Given the description of an element on the screen output the (x, y) to click on. 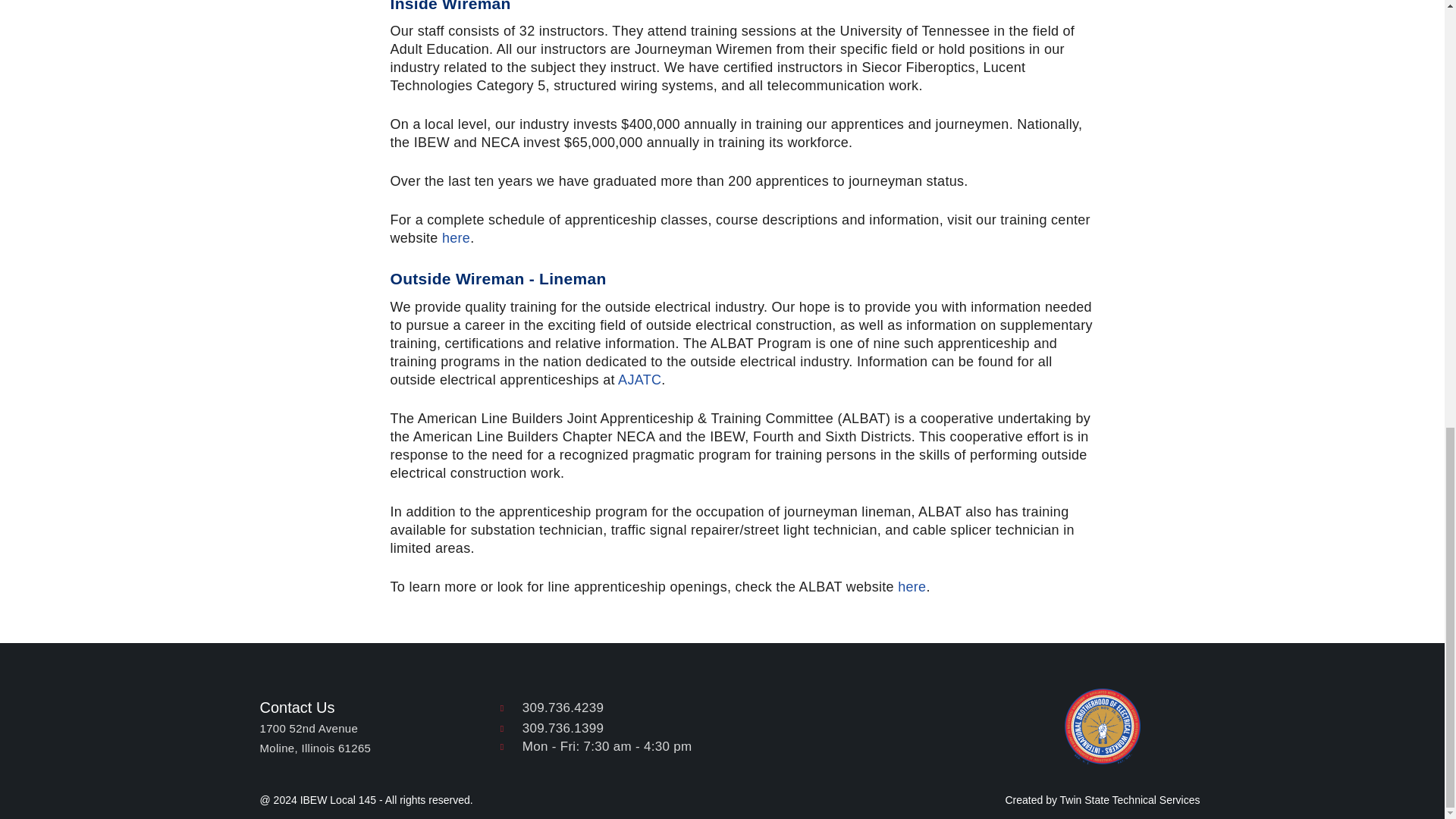
Link opens in new window (639, 379)
